Given the description of an element on the screen output the (x, y) to click on. 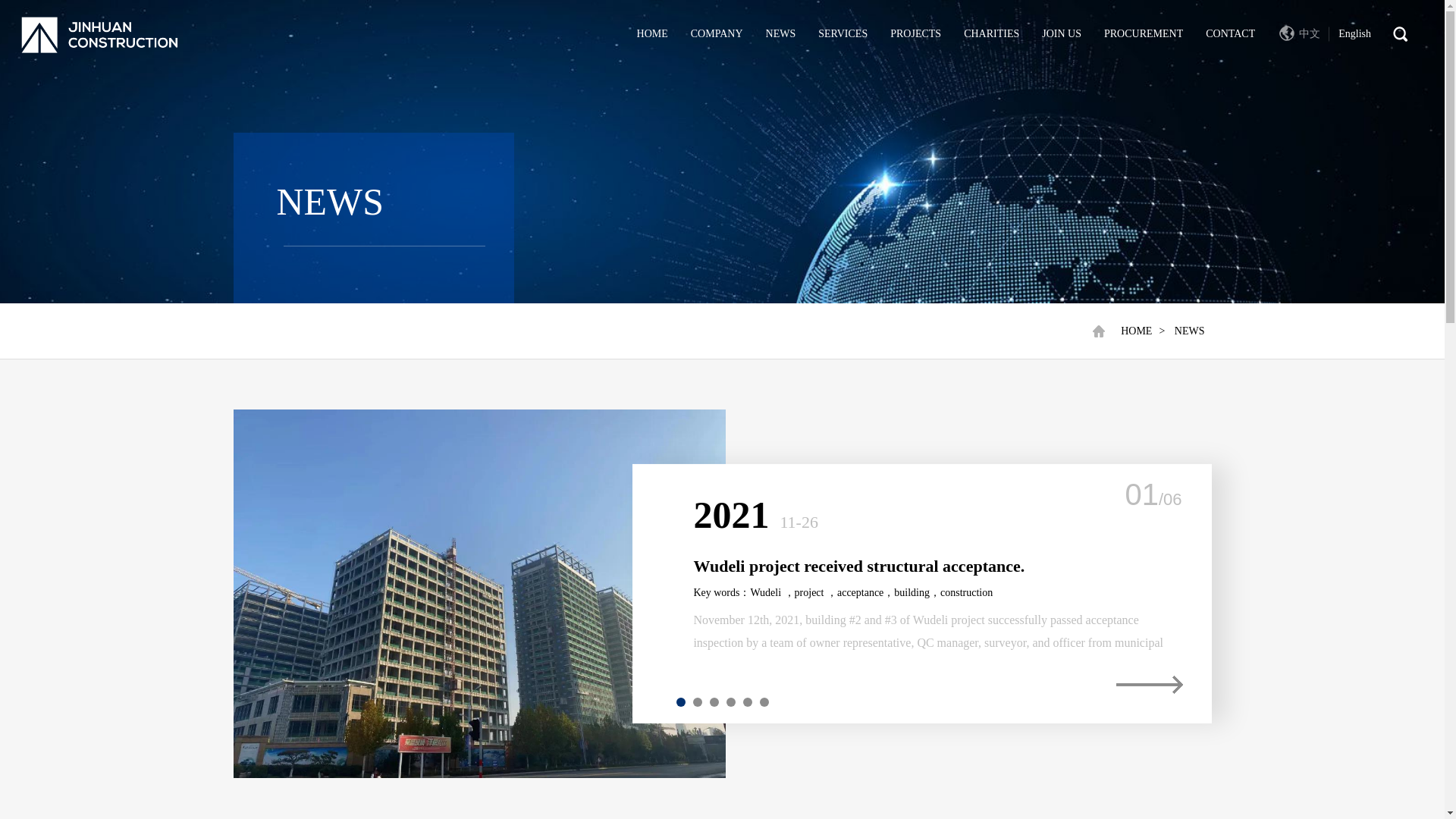
PROCUREMENT (1142, 33)
NEWS (1189, 330)
HOME (1136, 330)
Wudeli project received structural acceptance. (859, 565)
